Given the description of an element on the screen output the (x, y) to click on. 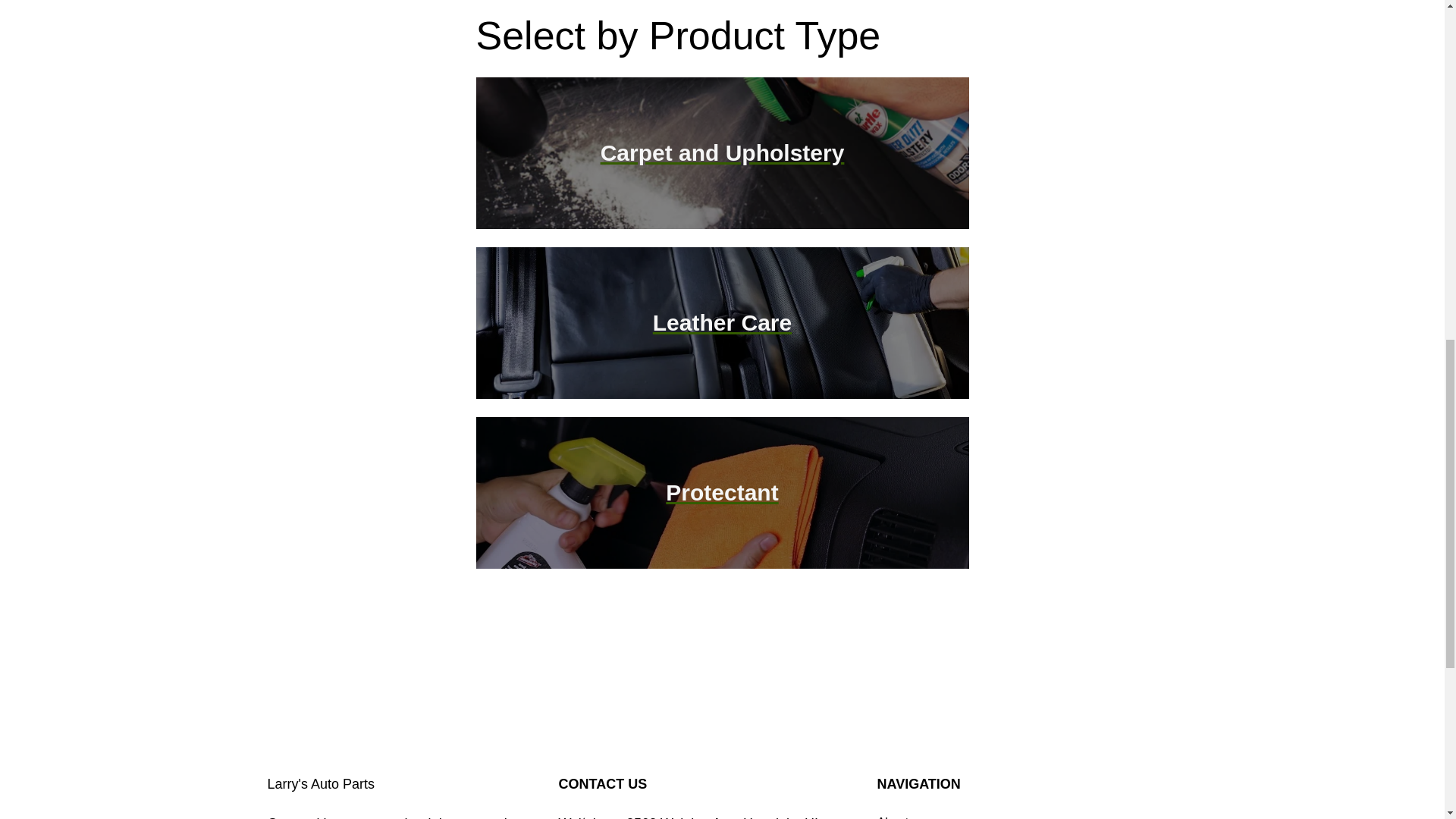
About (892, 816)
Carpet and Upholstery (721, 152)
Protectant (721, 492)
Larry's Auto Parts (320, 783)
Leather Care (722, 322)
